Given the description of an element on the screen output the (x, y) to click on. 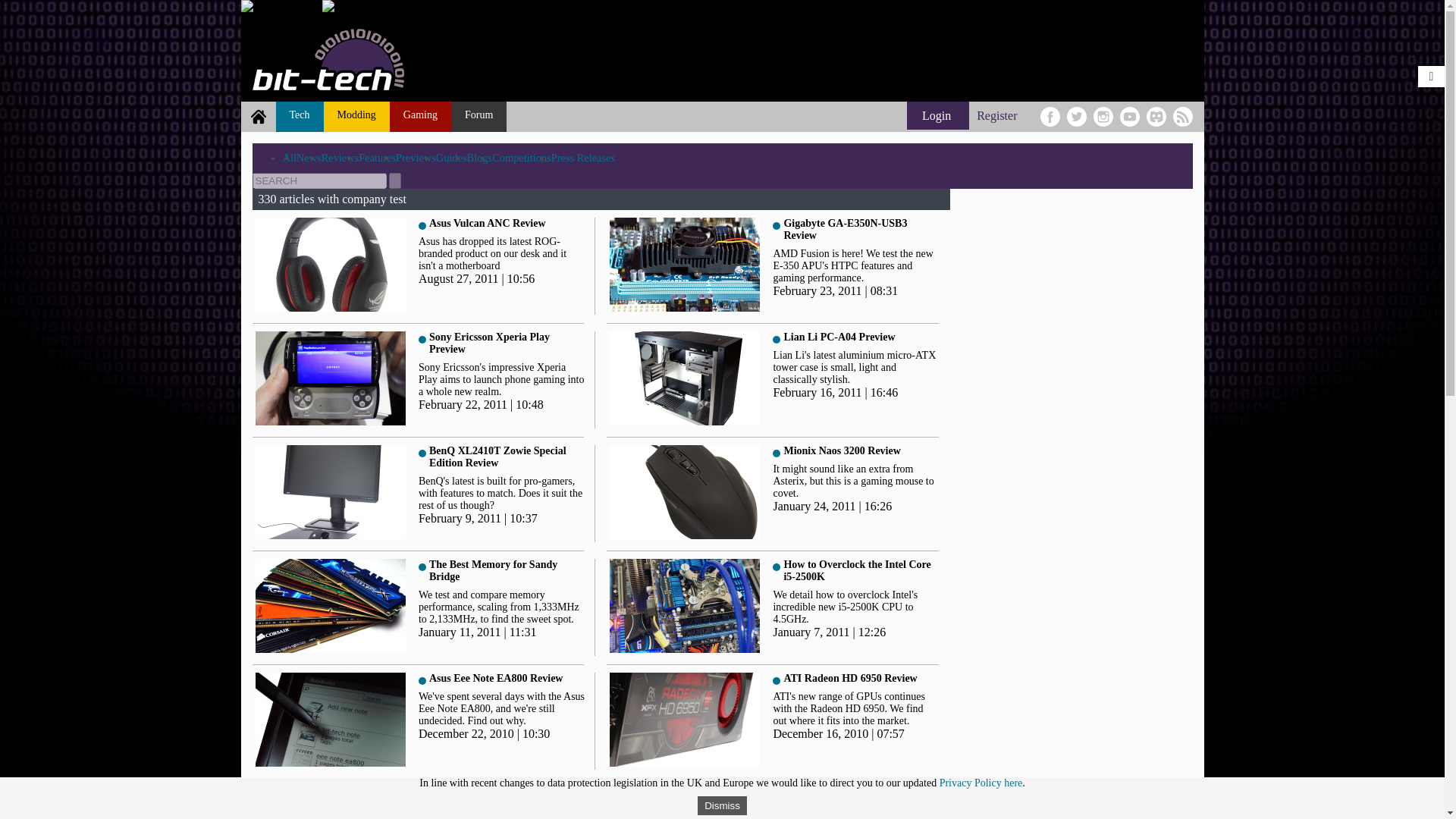
All (288, 157)
Competitions (521, 157)
Previews (415, 157)
Guides (451, 157)
Reviews (340, 157)
Login (938, 115)
Press Releases (582, 157)
News (309, 157)
Features (377, 157)
Register (997, 115)
